Given the description of an element on the screen output the (x, y) to click on. 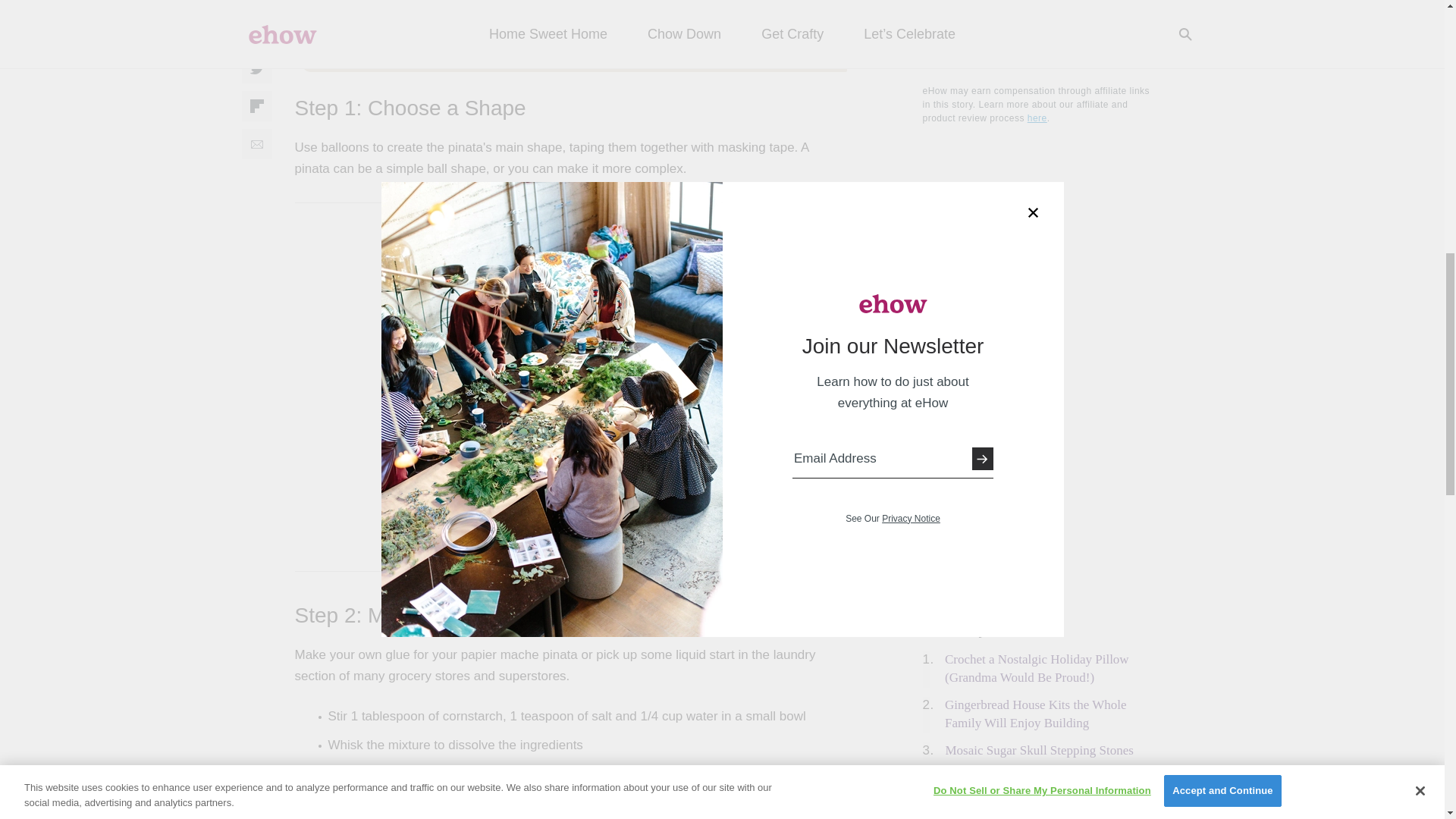
3rd party ad content (1035, 791)
Mosaic Sugar Skull Stepping Stones (1038, 749)
Gingerbread House Kits the Whole Family Will Enjoy Building (1035, 713)
